Given the description of an element on the screen output the (x, y) to click on. 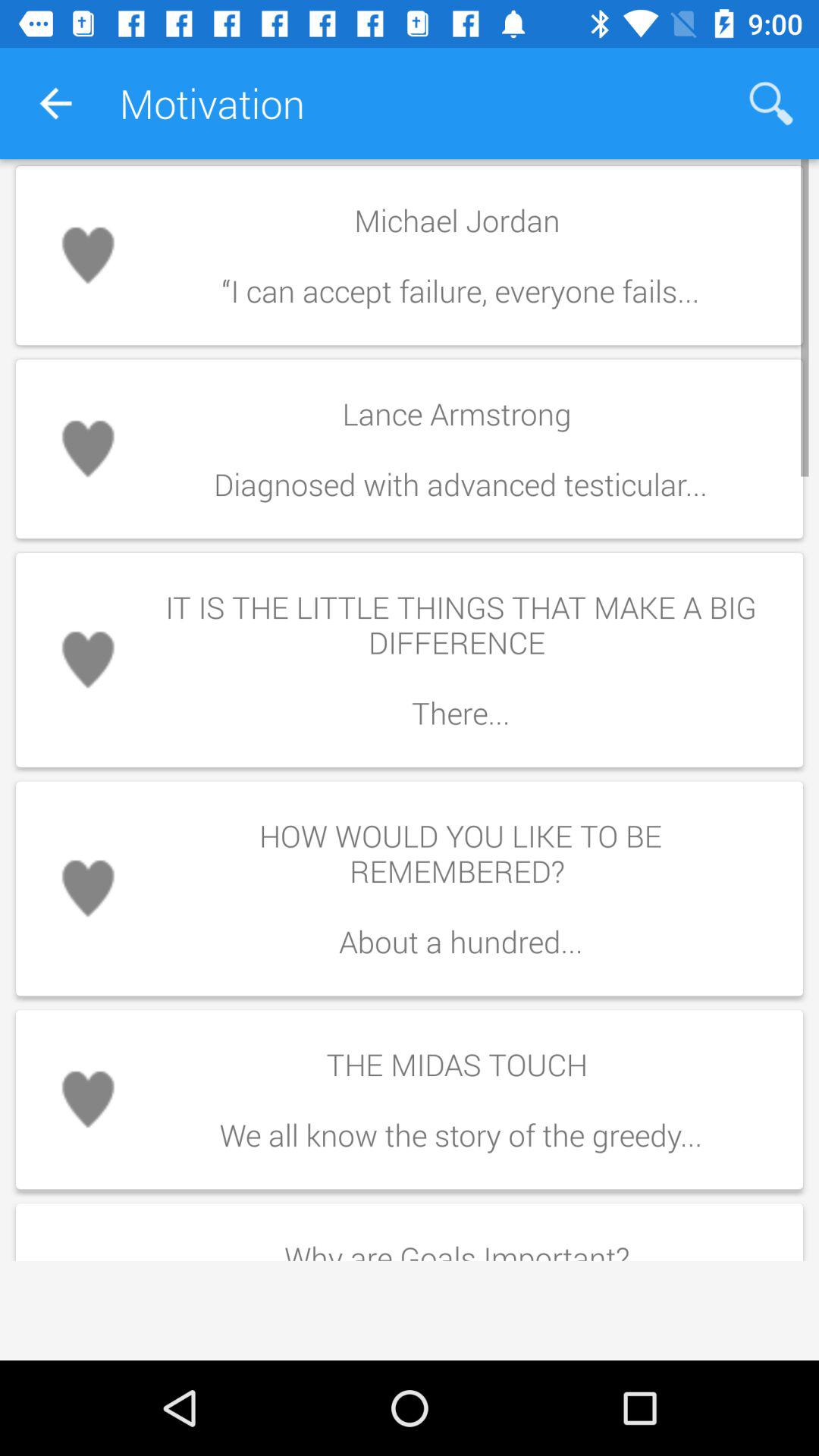
flip to michael jordan  item (460, 255)
